Given the description of an element on the screen output the (x, y) to click on. 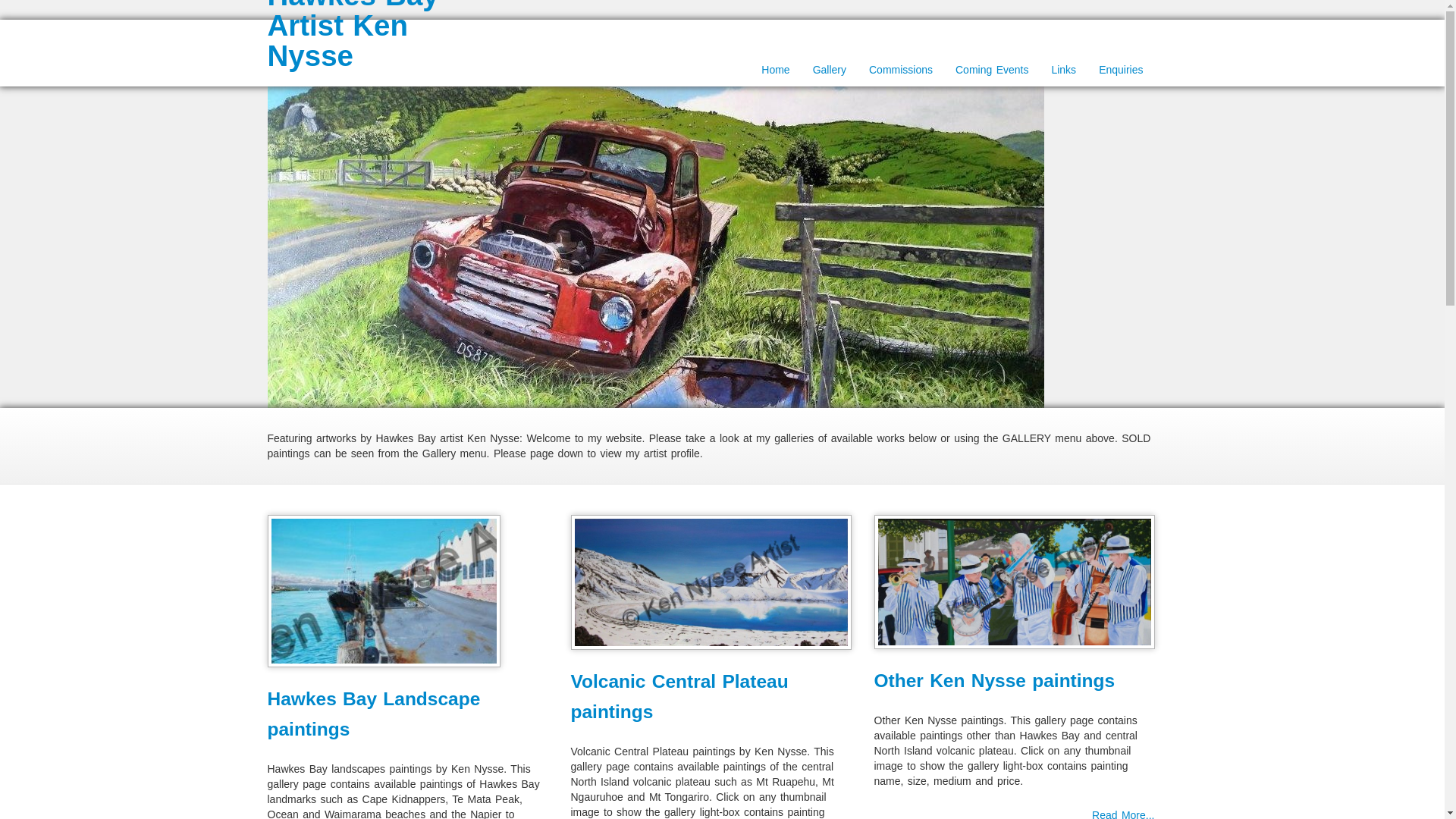
Volcanic Central Plateau paintings (678, 695)
Other Ken Nysse paintings (994, 680)
Coming Events (991, 71)
Home (774, 71)
Hawkes Bay Landscape paintings (373, 713)
Links (1063, 71)
Gallery (829, 71)
Commissions (900, 71)
Read More... (1123, 814)
Hawkes Bay Artist Ken Nysse (352, 36)
